Given the description of an element on the screen output the (x, y) to click on. 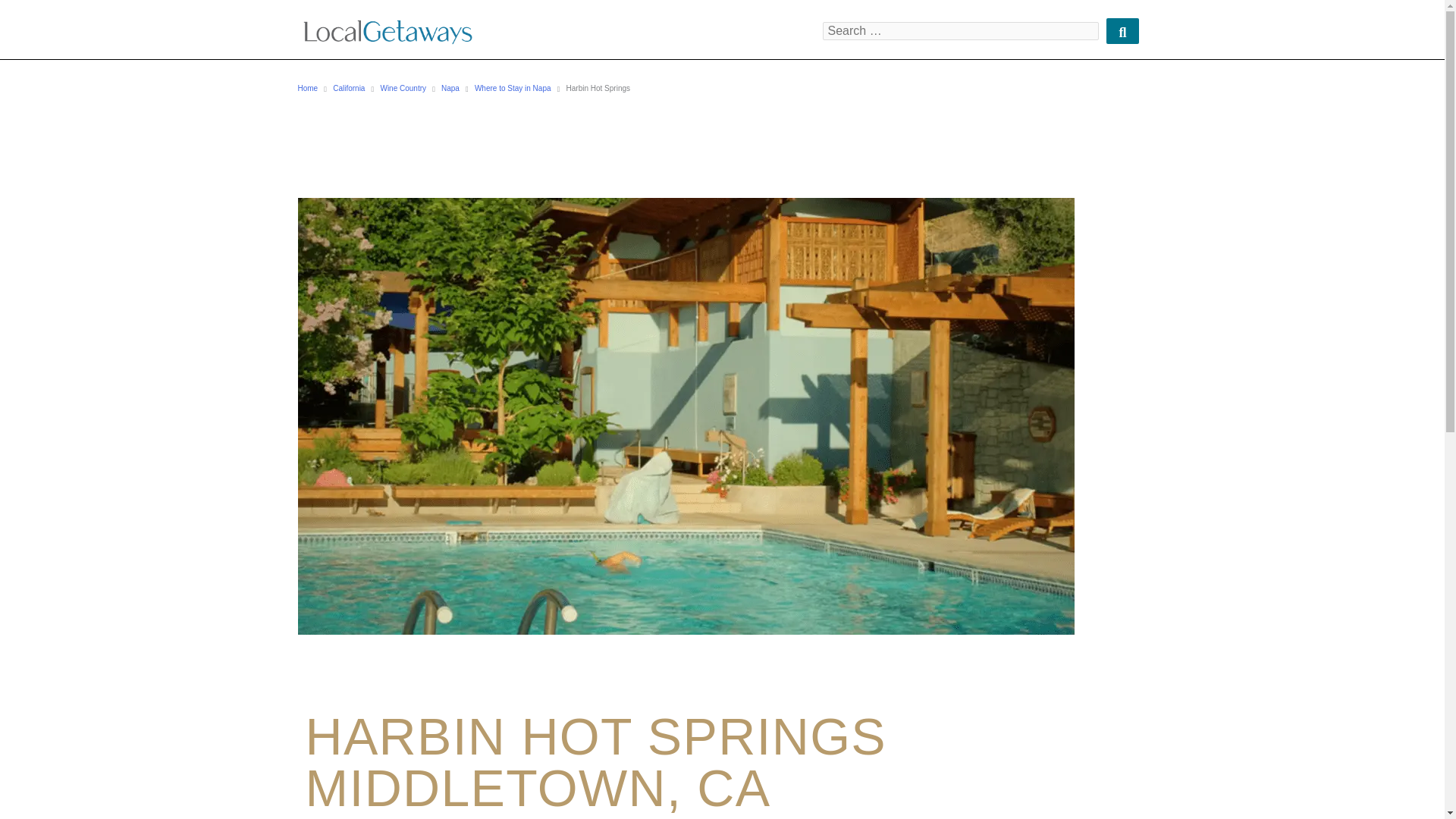
California (349, 88)
Wine Country (403, 88)
Napa (450, 88)
Where to Stay in Napa (512, 88)
Home (307, 88)
